Given the description of an element on the screen output the (x, y) to click on. 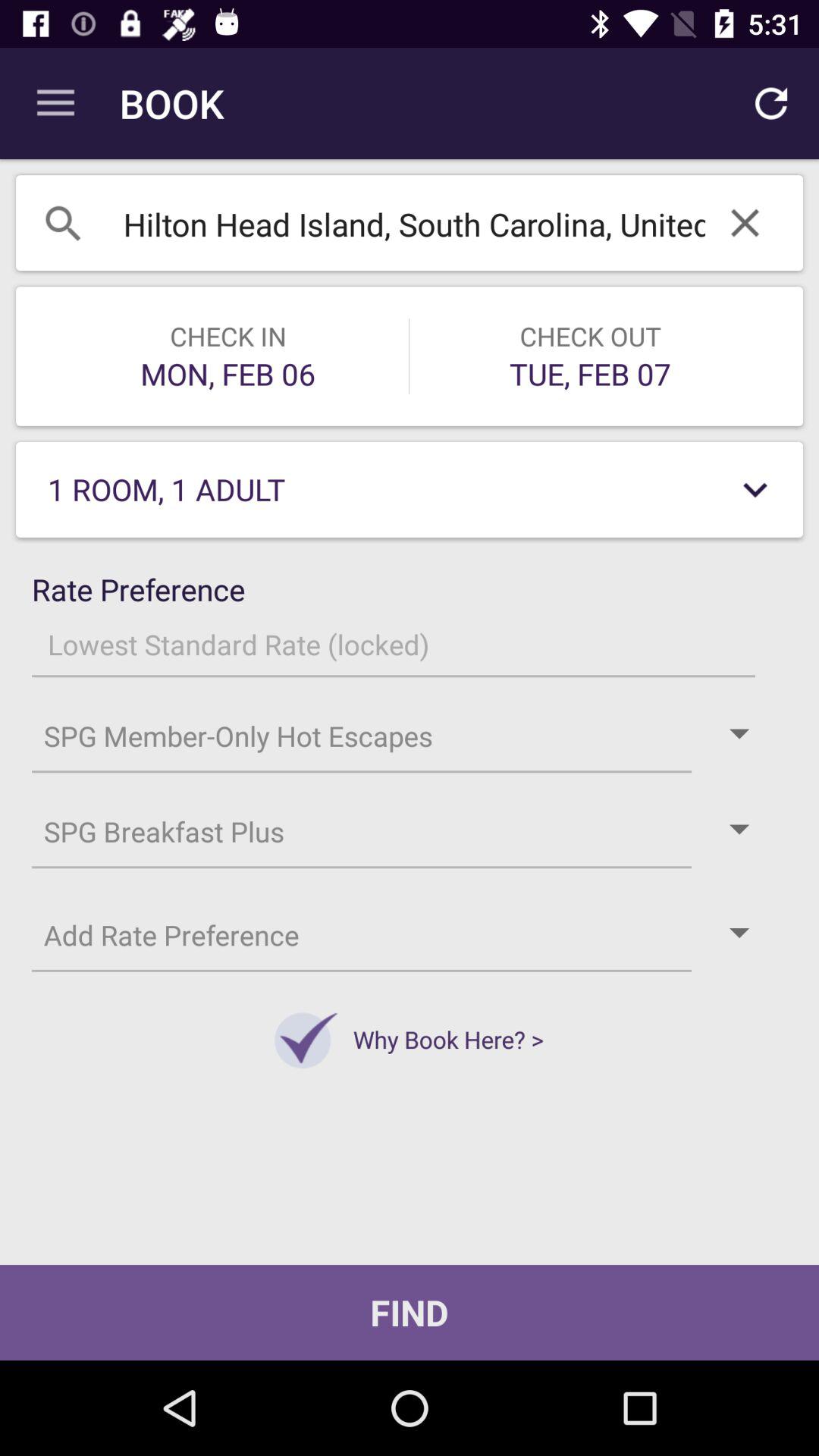
go to close (744, 222)
